Given the description of an element on the screen output the (x, y) to click on. 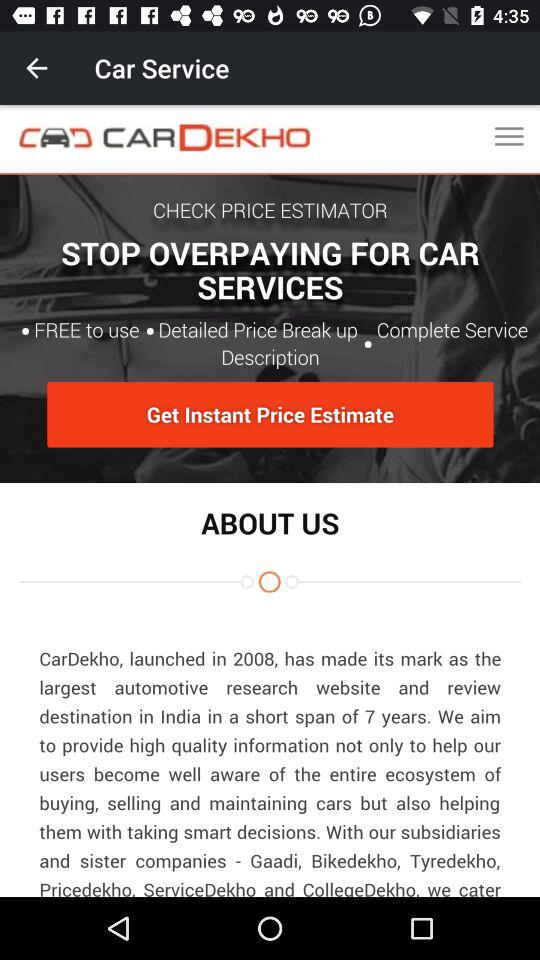
go back (36, 68)
